Given the description of an element on the screen output the (x, y) to click on. 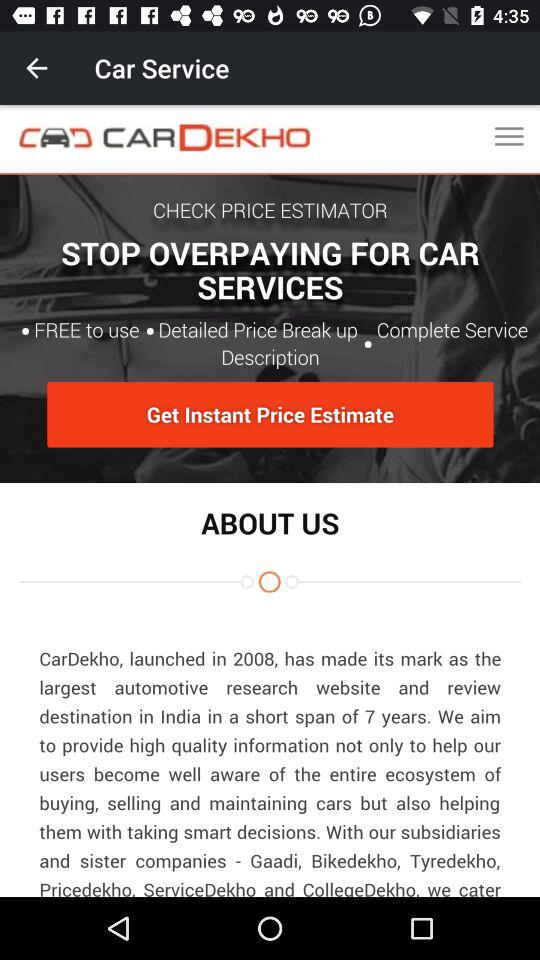
go back (36, 68)
